Given the description of an element on the screen output the (x, y) to click on. 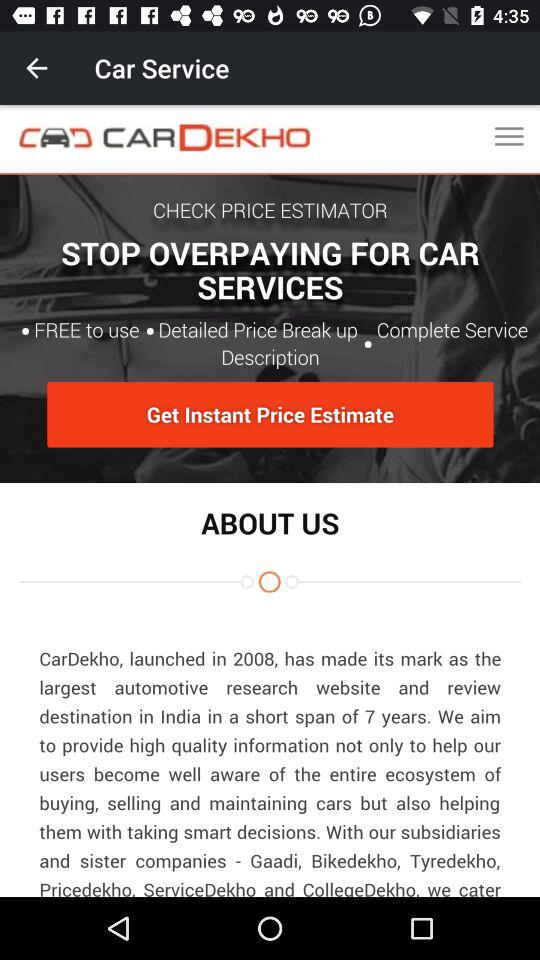
go back (36, 68)
